Given the description of an element on the screen output the (x, y) to click on. 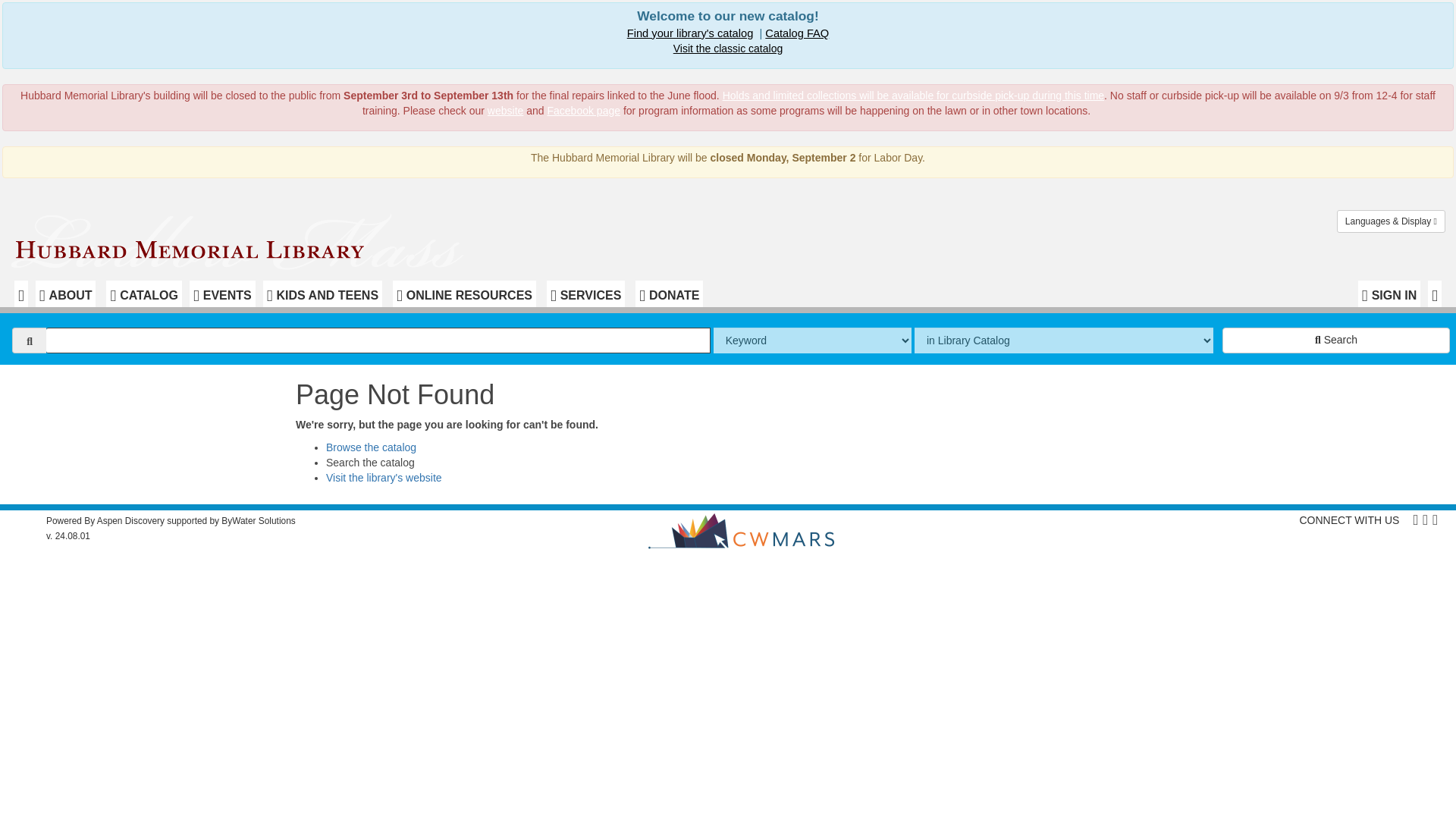
Facebook page (583, 110)
CATALOG (144, 293)
Find your library's catalog (690, 33)
Select a Library Catalog (690, 33)
ABOUT (65, 293)
Return to Catalog Home (240, 238)
Catalog FAQ (796, 33)
website (504, 110)
KIDS AND TEENS (322, 293)
